Given the description of an element on the screen output the (x, y) to click on. 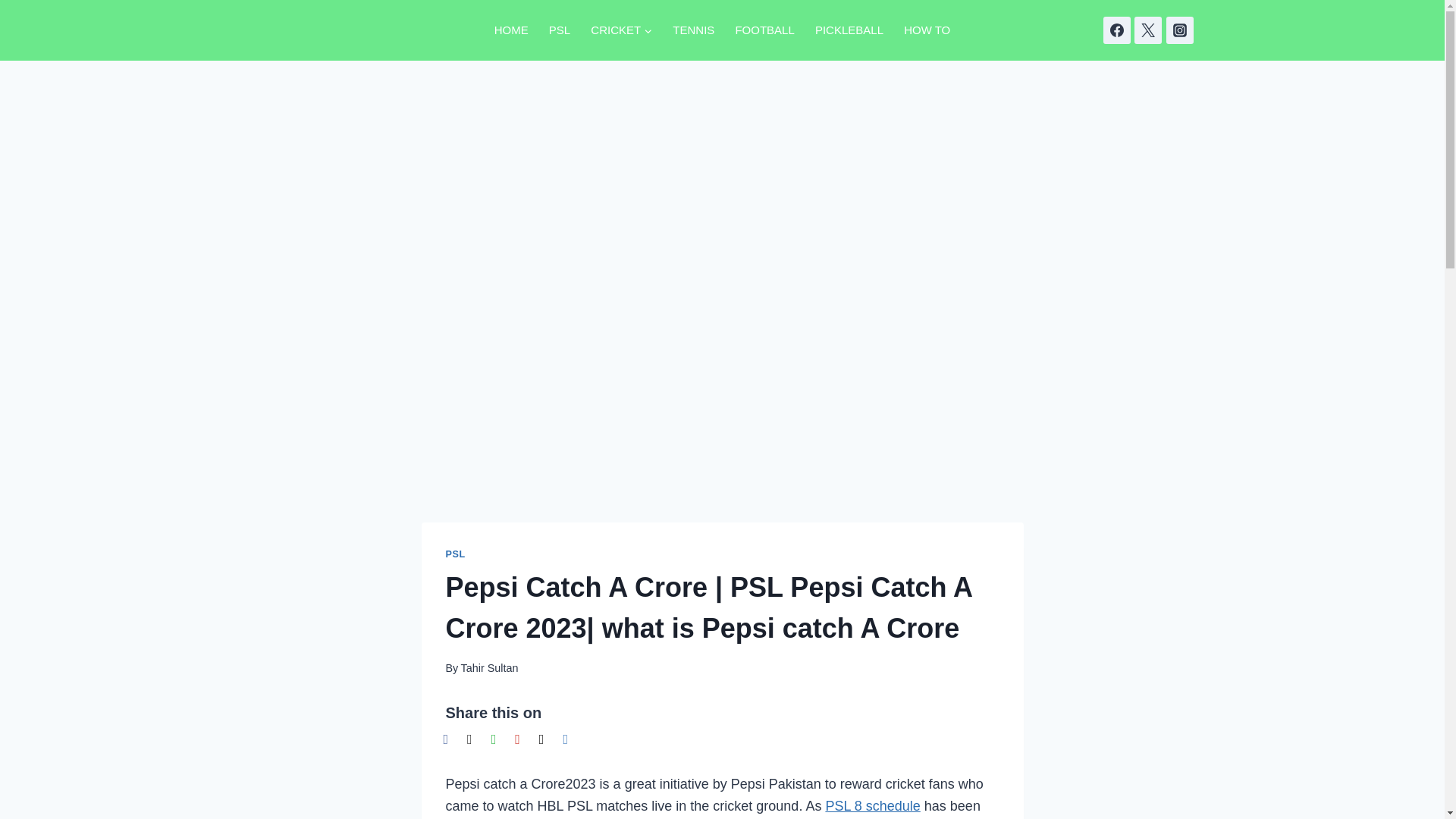
PSL 8 schedule (872, 806)
HOME (510, 30)
TENNIS (693, 30)
Tahir Sultan (489, 667)
PICKLEBALL (849, 30)
CRICKET (621, 30)
HOW TO (926, 30)
PSL (455, 553)
FOOTBALL (765, 30)
